Given the description of an element on the screen output the (x, y) to click on. 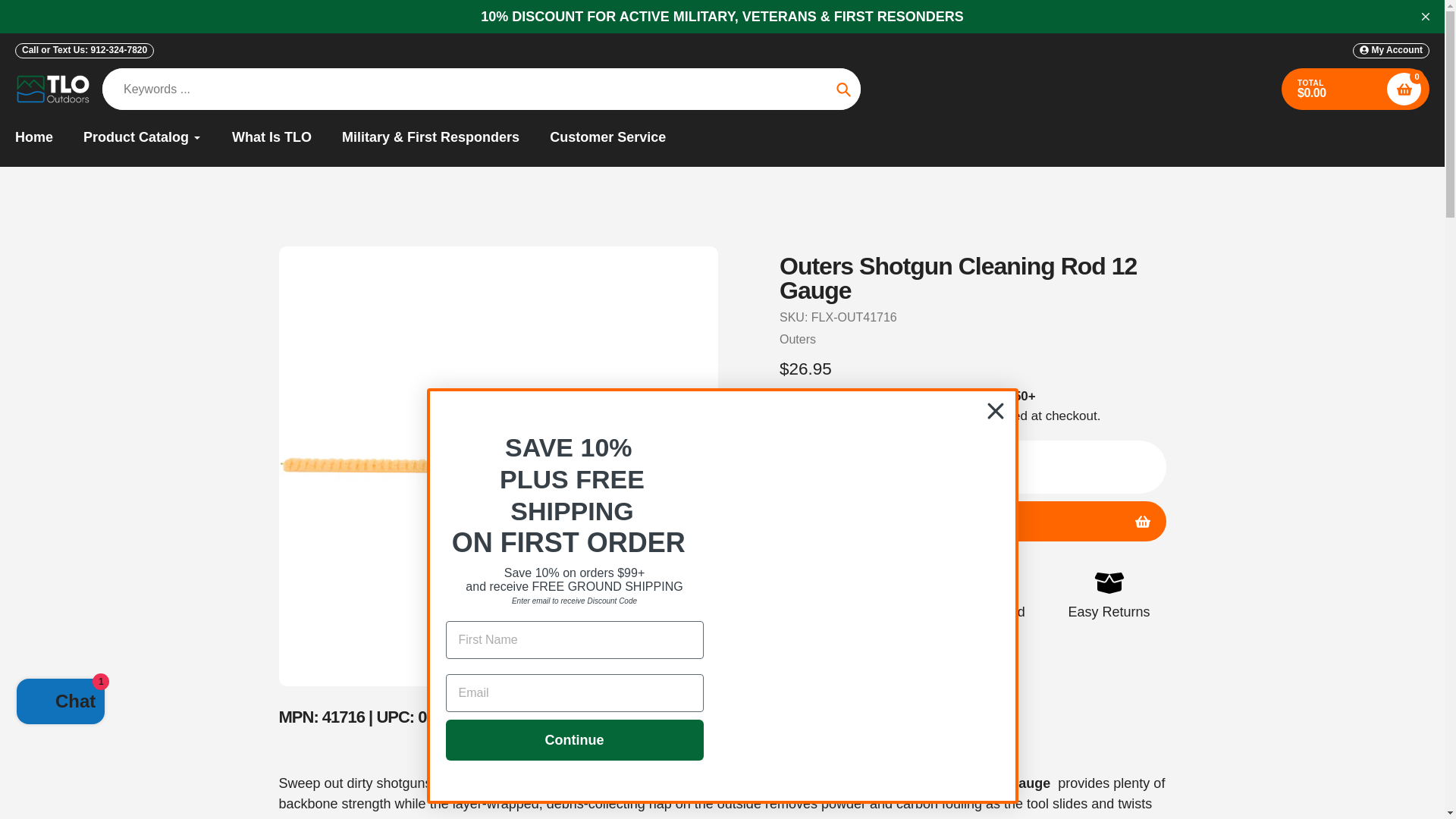
Shopify online store chat (60, 703)
My Account (1390, 50)
1 (933, 467)
0 (1404, 88)
Call or Text Us: 912-324-7820 (84, 50)
Home (33, 137)
Outers (796, 338)
Product Catalog (142, 137)
